Given the description of an element on the screen output the (x, y) to click on. 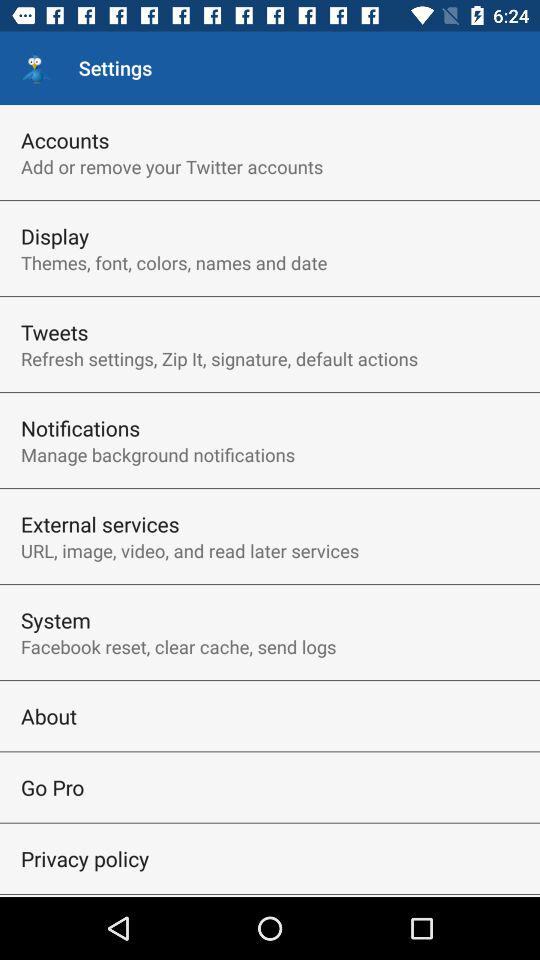
open display (55, 236)
